Given the description of an element on the screen output the (x, y) to click on. 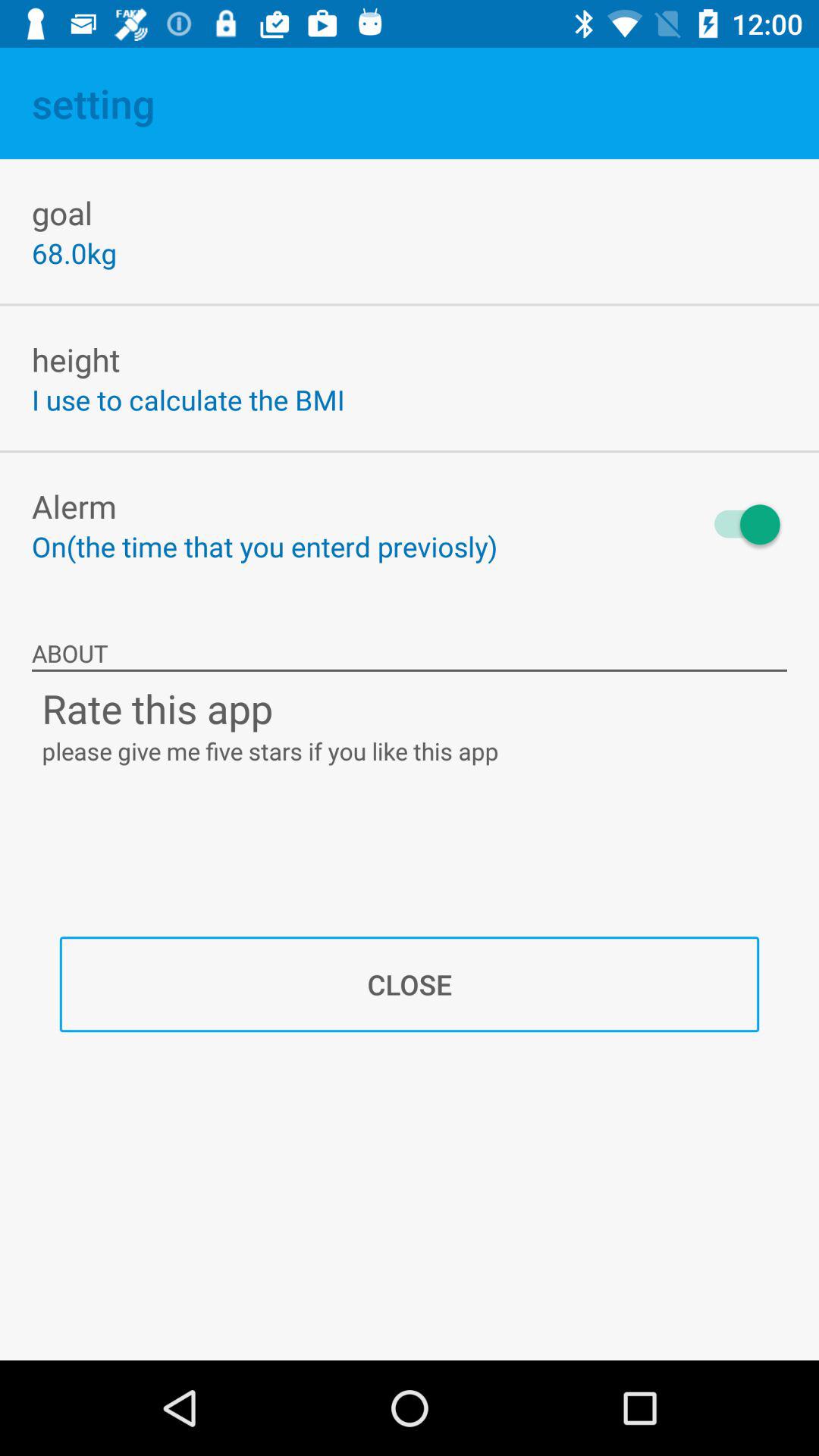
choose goal item (61, 212)
